Given the description of an element on the screen output the (x, y) to click on. 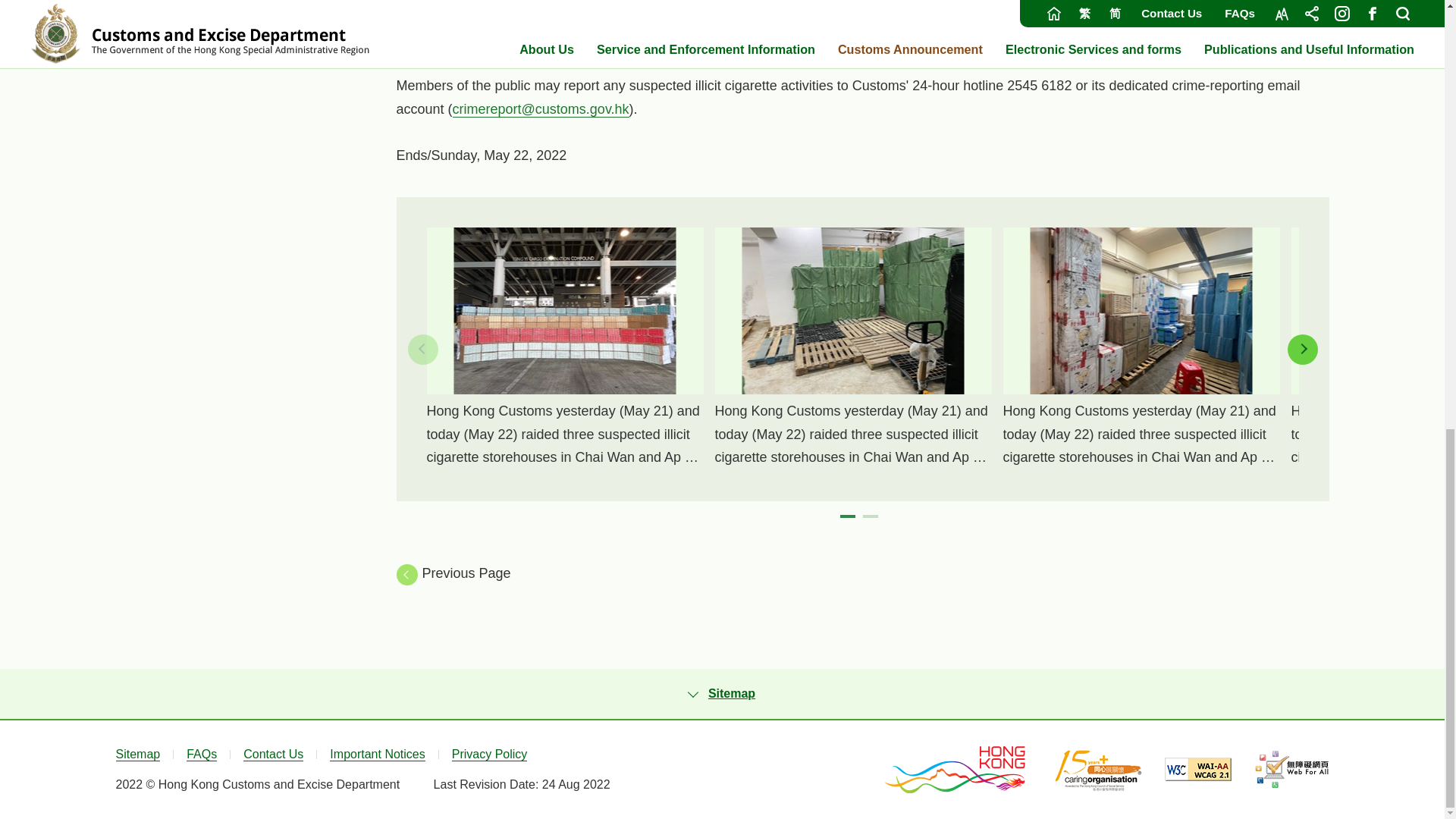
WCAG 2.1 AA, This link will open in new window (1197, 769)
Caring Organisation, This link will open in new window (1097, 769)
